Given the description of an element on the screen output the (x, y) to click on. 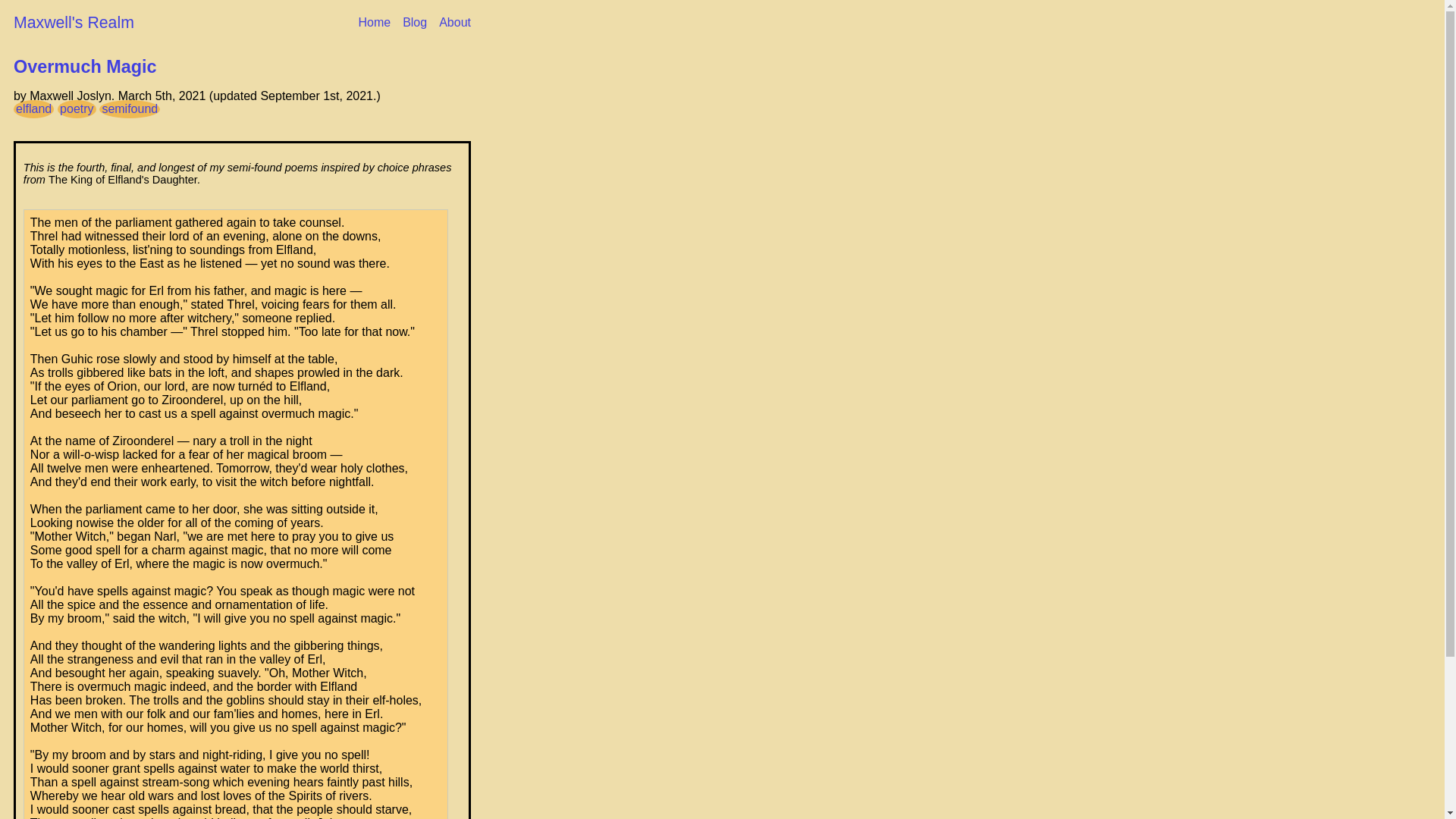
elfland (34, 108)
Overmuch Magic (85, 66)
Maxwell's Realm (73, 22)
Home (374, 22)
About (454, 22)
poetry (77, 108)
semifound (129, 108)
Blog (414, 22)
